Given the description of an element on the screen output the (x, y) to click on. 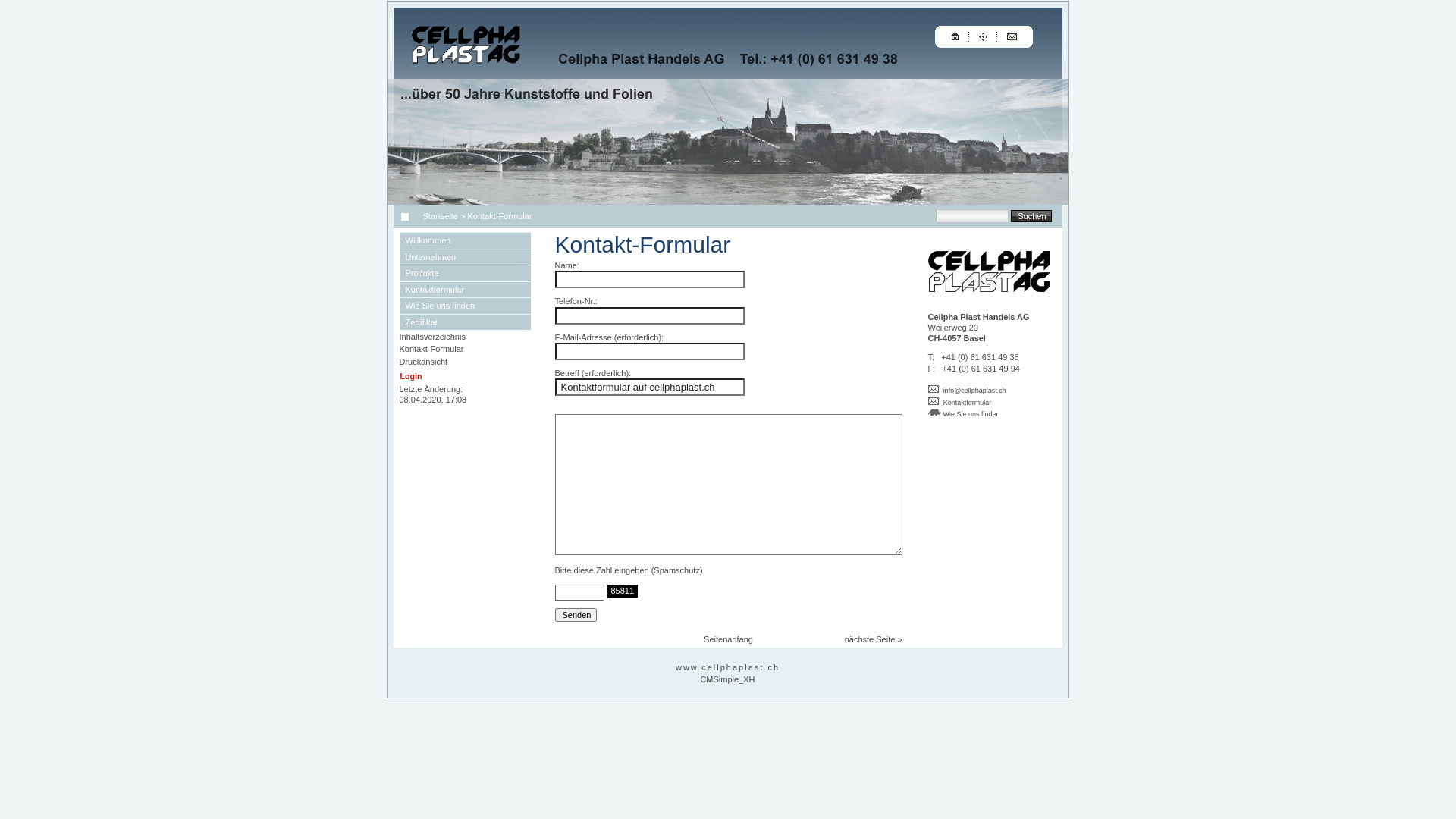
Zertifikat Element type: text (465, 321)
 Wie Sie uns finden Element type: text (964, 412)
Inhaltsverzeichnis Element type: text (431, 336)
Druckansicht Element type: text (422, 361)
Seitenanfang Element type: text (728, 638)
Suchbegriffe Element type: hover (971, 215)
info@cellphaplast.ch Element type: text (974, 390)
Login Element type: text (411, 375)
Unternehmen Element type: text (465, 256)
swiss-map.gif Element type: hover (934, 412)
Kontaktformular Element type: text (967, 402)
Willkommen Element type: text (465, 240)
Cellpha-Logo bereinigt.jpg Element type: hover (988, 271)
Produkte Element type: text (465, 272)
eMail-prorigi.gif Element type: hover (933, 400)
Mitteilungstext Element type: hover (728, 484)
Senden Element type: text (576, 614)
Wie Sie uns finden Element type: text (465, 305)
Suchen Element type: text (1030, 215)
Kontaktformular Element type: text (465, 288)
eMail-prorigi.gif Element type: hover (933, 388)
Startseite Element type: text (438, 215)
